Given the description of an element on the screen output the (x, y) to click on. 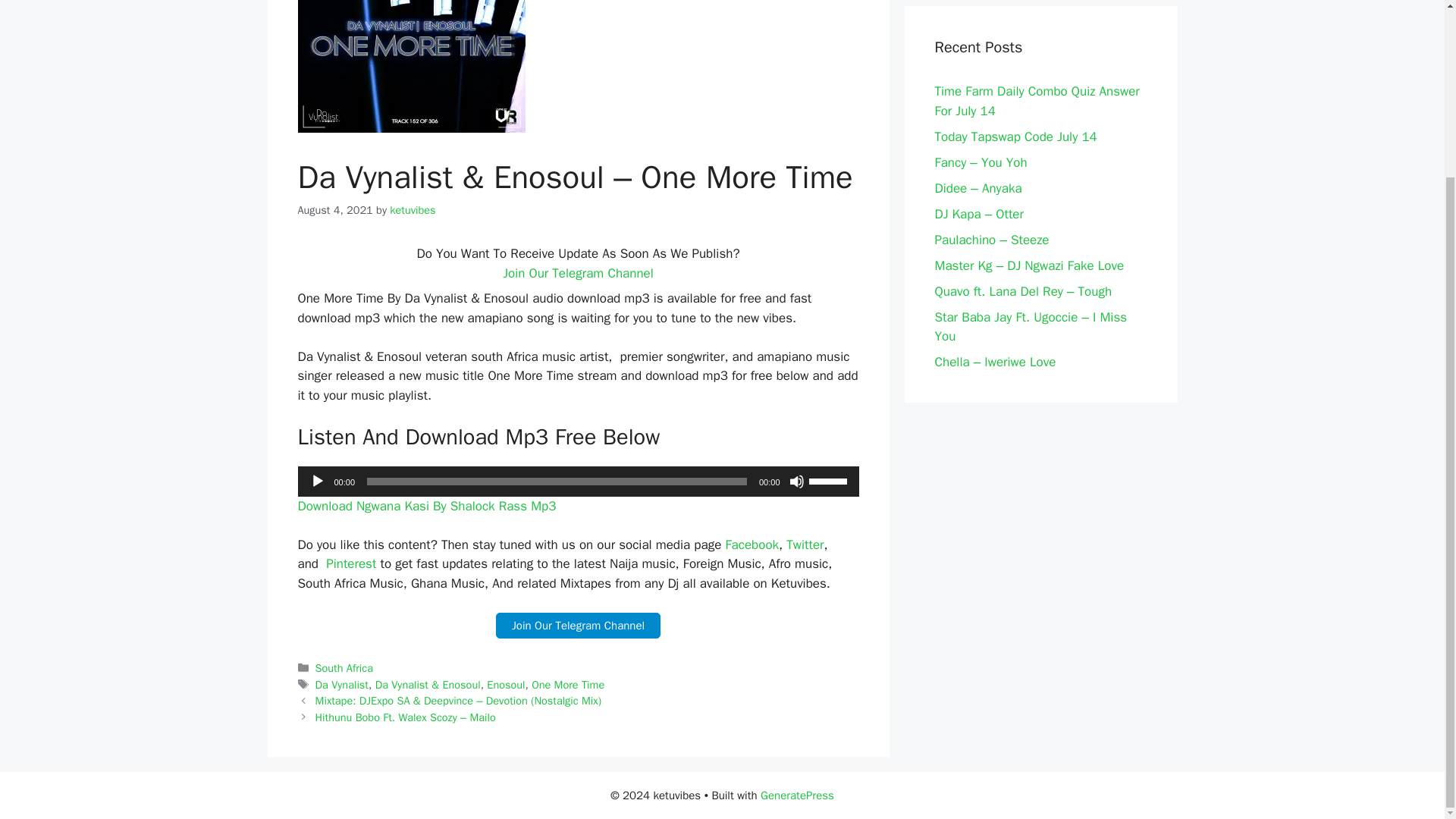
Da Vynalist (341, 684)
Play (316, 481)
Join Our Telegram Channel (577, 273)
Time Farm Daily Combo Quiz Answer For July 14 (1036, 100)
Enosoul (505, 684)
ketuvibes (412, 210)
View all posts by ketuvibes (412, 210)
Facebook (751, 544)
Pinterest (350, 563)
Join Our Telegram Channel (578, 625)
Download Ngwana Kasi By Shalock Rass Mp3 (426, 505)
Twitter (805, 544)
South Africa (343, 667)
Mute (796, 481)
Today Tapswap Code July 14 (1015, 135)
